Given the description of an element on the screen output the (x, y) to click on. 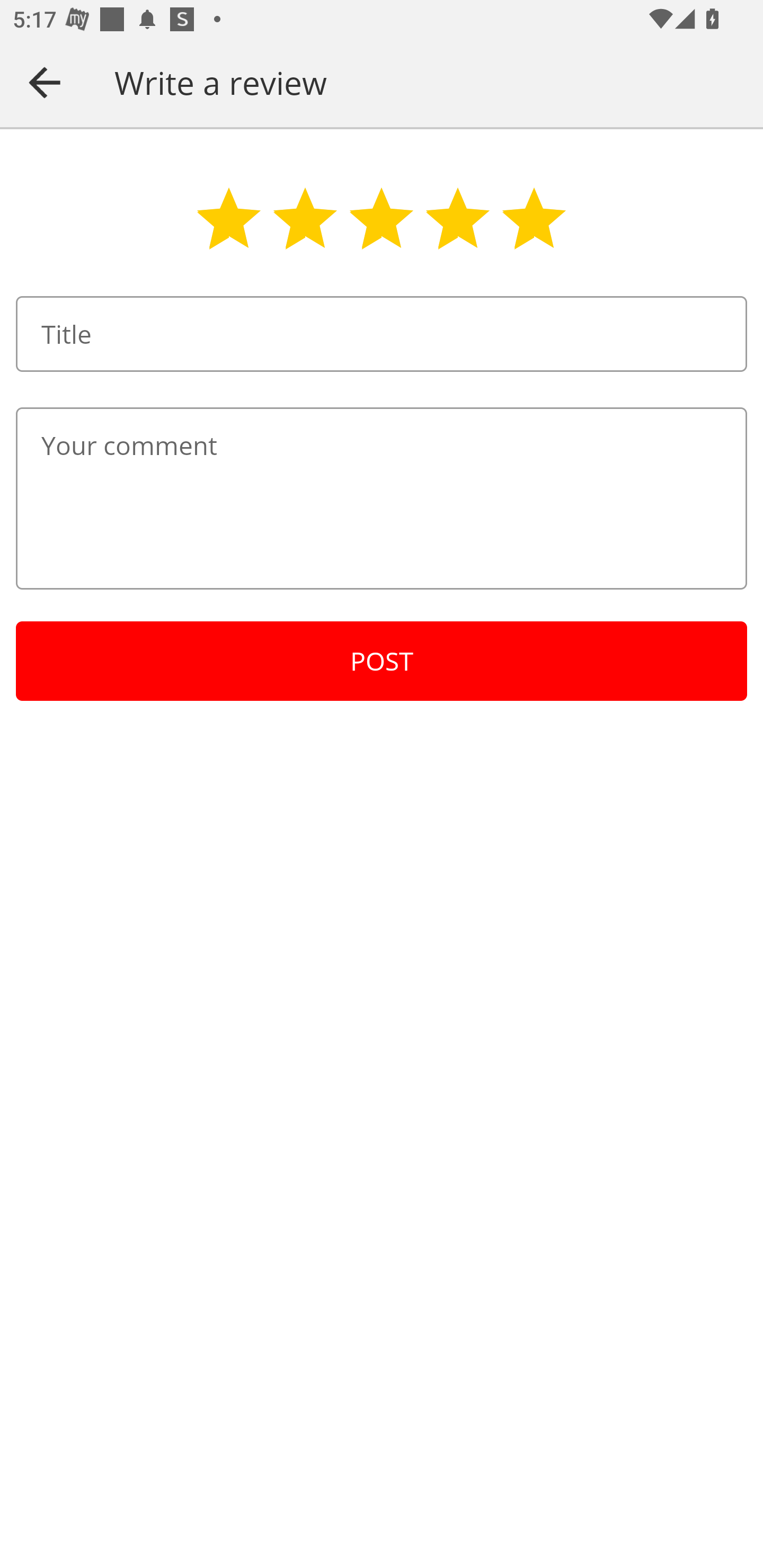
Navigate up (44, 82)
Title (381, 333)
Your comment (381, 498)
POST (381, 660)
